Given the description of an element on the screen output the (x, y) to click on. 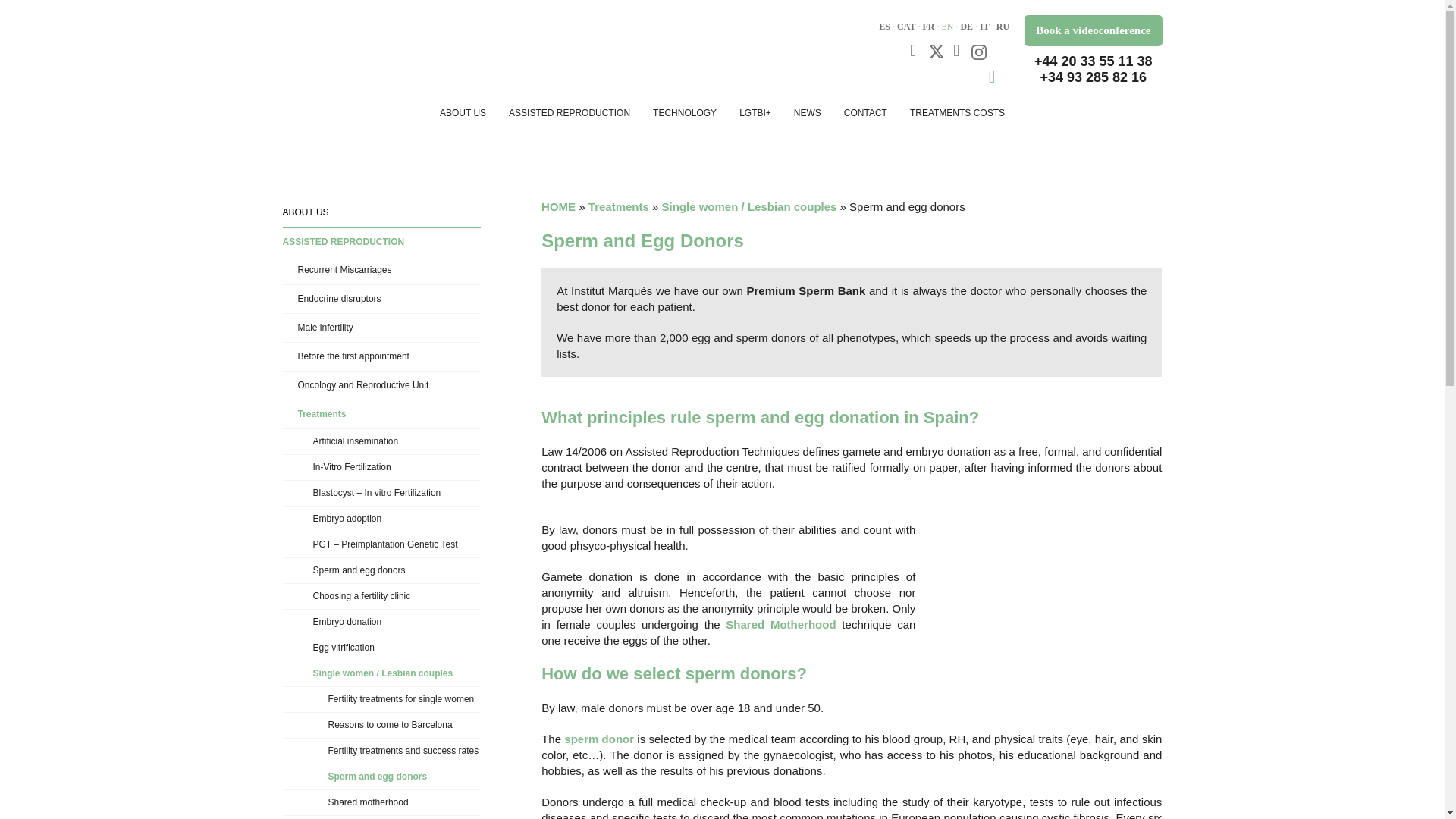
ABOUT US (462, 112)
TECHNOLOGY (684, 112)
ASSISTED REPRODUCTION (569, 112)
Book a videoconference (1092, 30)
CAT (905, 26)
Sperm and egg donors 1 (1047, 582)
